Given the description of an element on the screen output the (x, y) to click on. 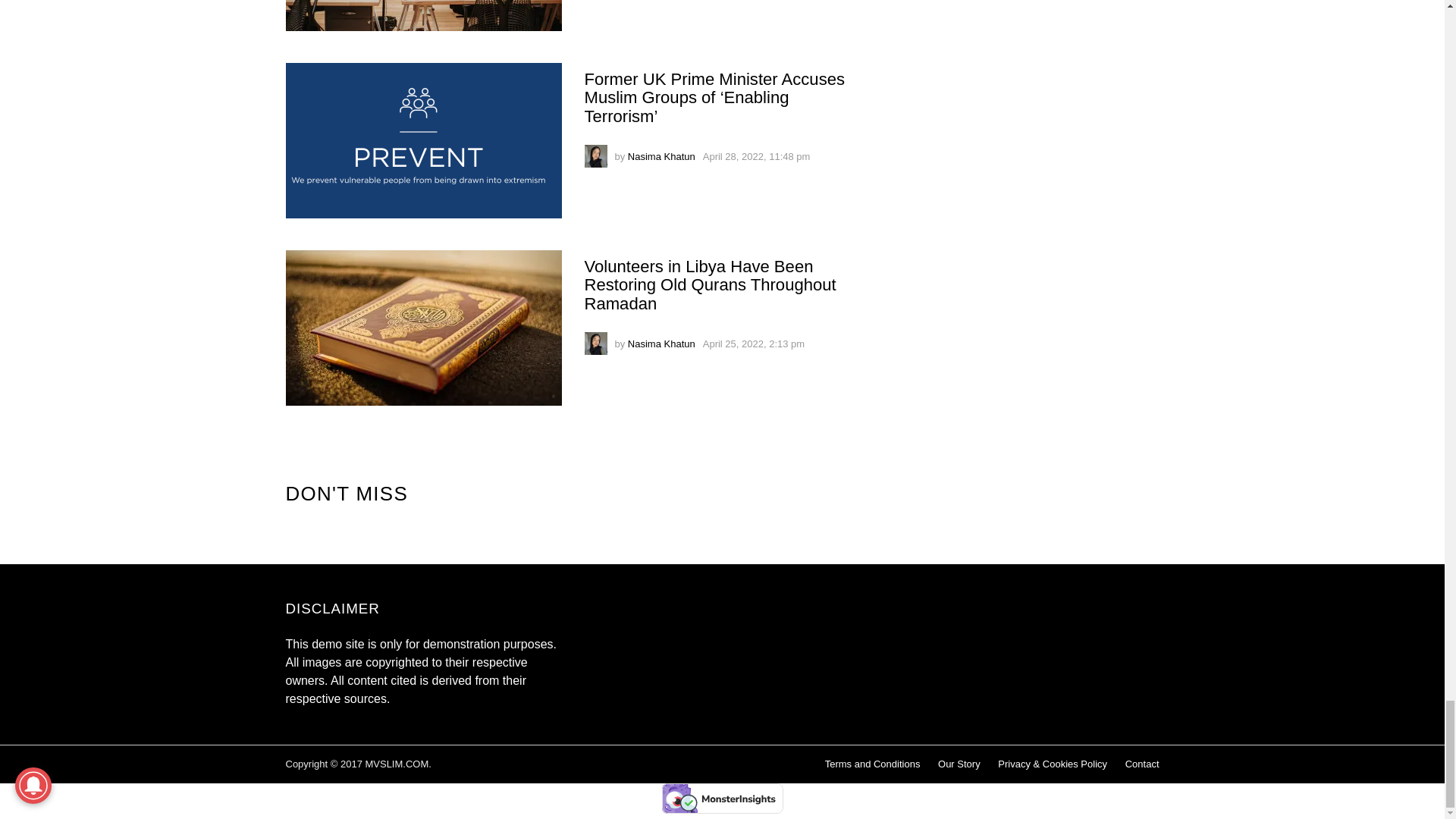
Posts by Nasima Khatun (661, 343)
Posts by Nasima Khatun (661, 156)
April 25, 2022, 2:13 pm (754, 343)
April 28, 2022, 11:48 pm (756, 156)
